Given the description of an element on the screen output the (x, y) to click on. 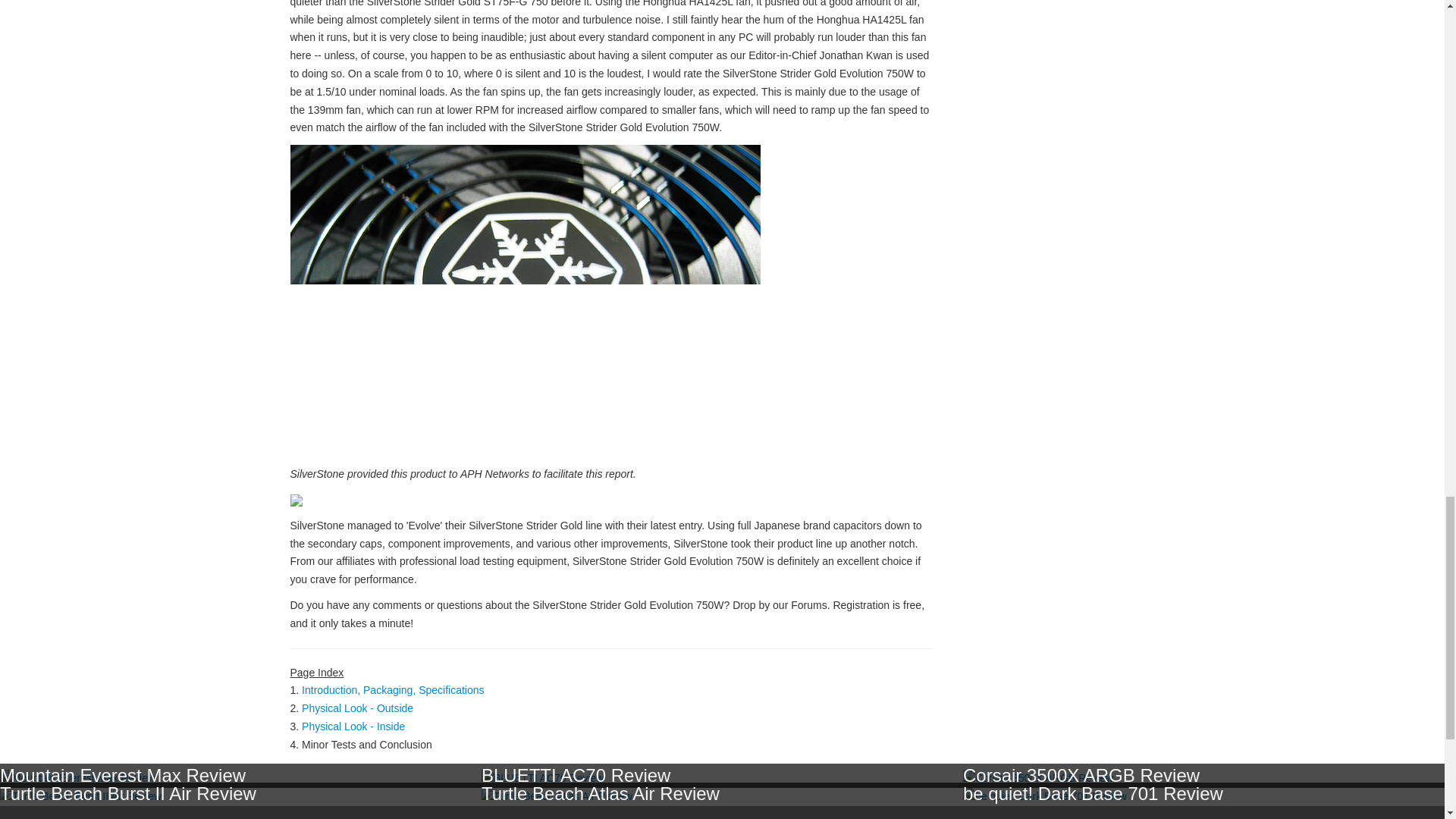
Mountain Everest Max Review (123, 774)
Corsair 3500X ARGB Review (1080, 774)
Turtle Beach Burst II Air Review (128, 792)
Physical Look - Outside (357, 707)
Physical Look - Inside (352, 726)
be quiet! Dark Base 701 Review (1092, 792)
BLUETTI AC70 Review (575, 774)
Turtle Beach Atlas Air Review (600, 792)
Introduction, Packaging, Specifications (392, 689)
